Given the description of an element on the screen output the (x, y) to click on. 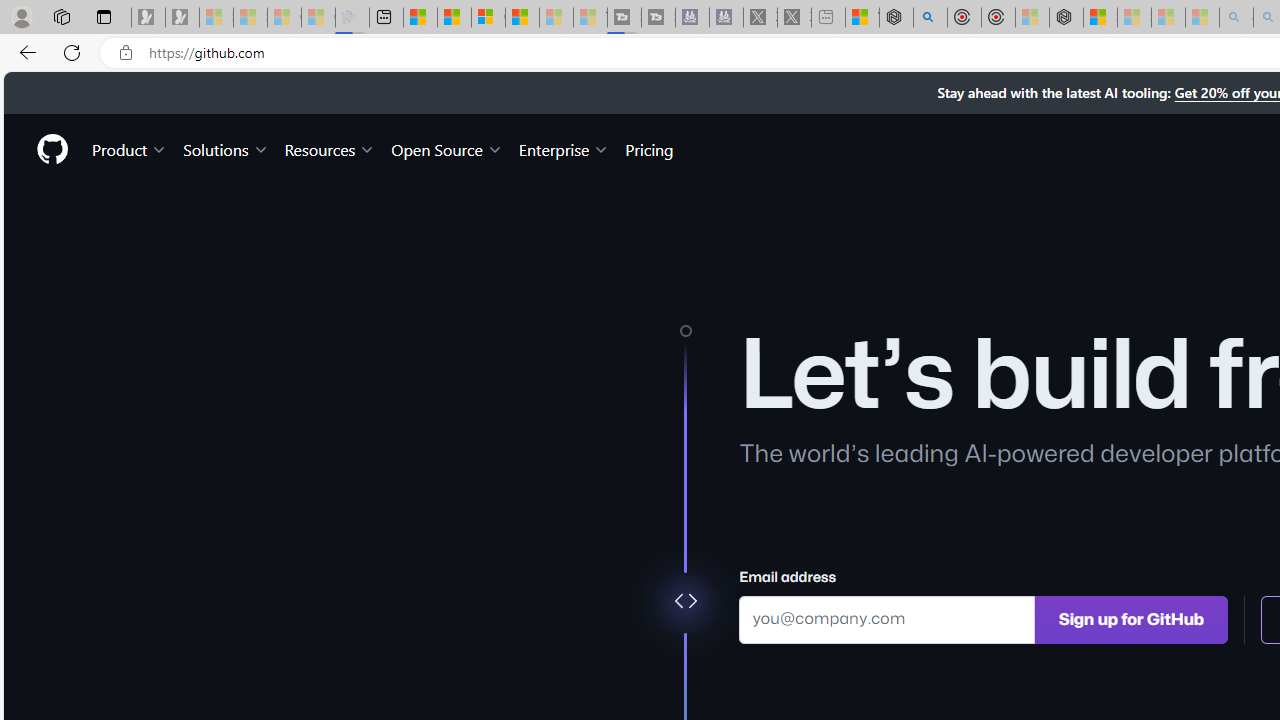
Solutions (225, 148)
Sign up for GitHub (1131, 618)
Resources (330, 148)
Overview (488, 17)
Enterprise (563, 148)
